Given the description of an element on the screen output the (x, y) to click on. 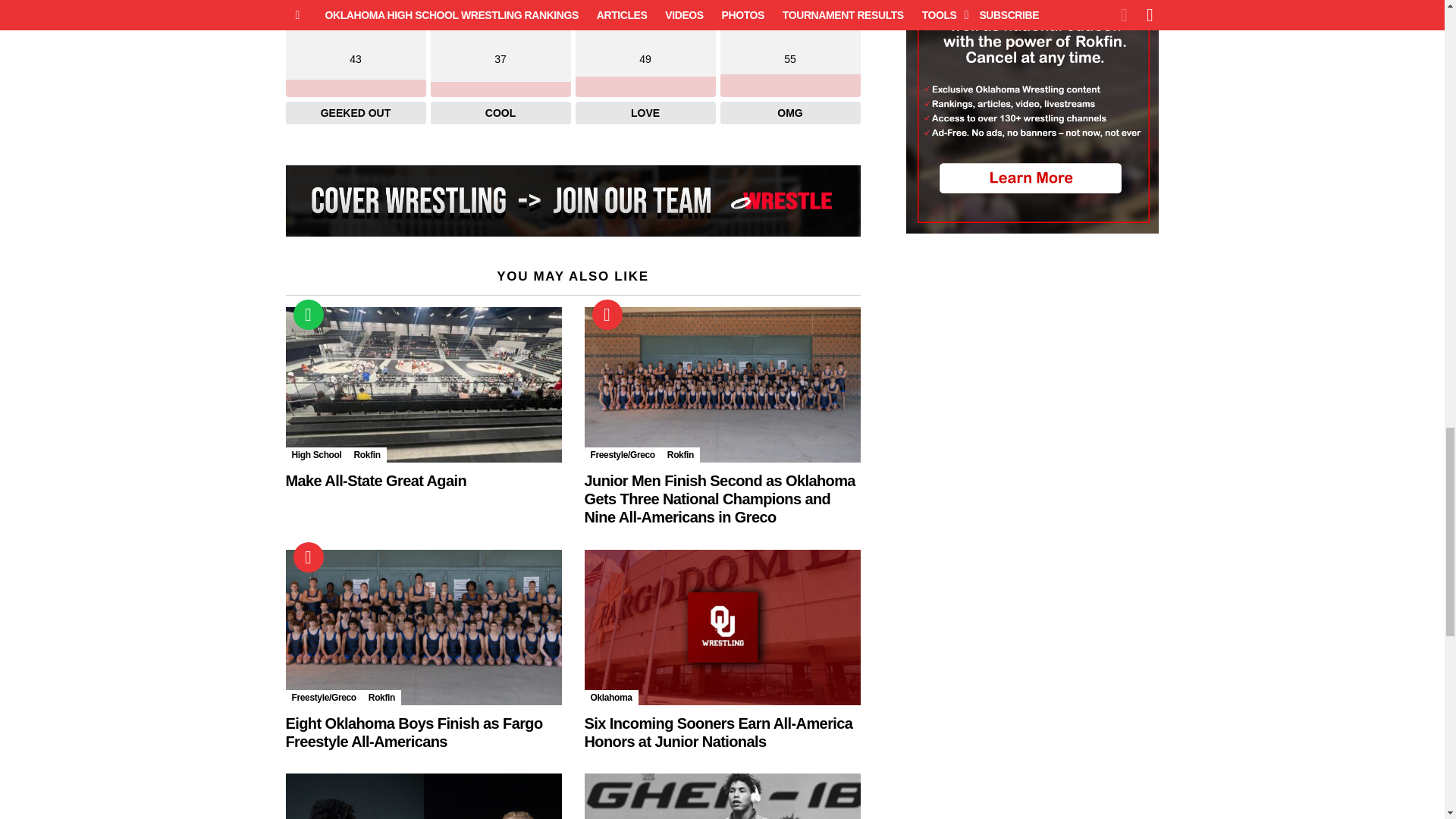
Make All-State Great Again (422, 384)
Hot (606, 314)
Trending (307, 314)
